Given the description of an element on the screen output the (x, y) to click on. 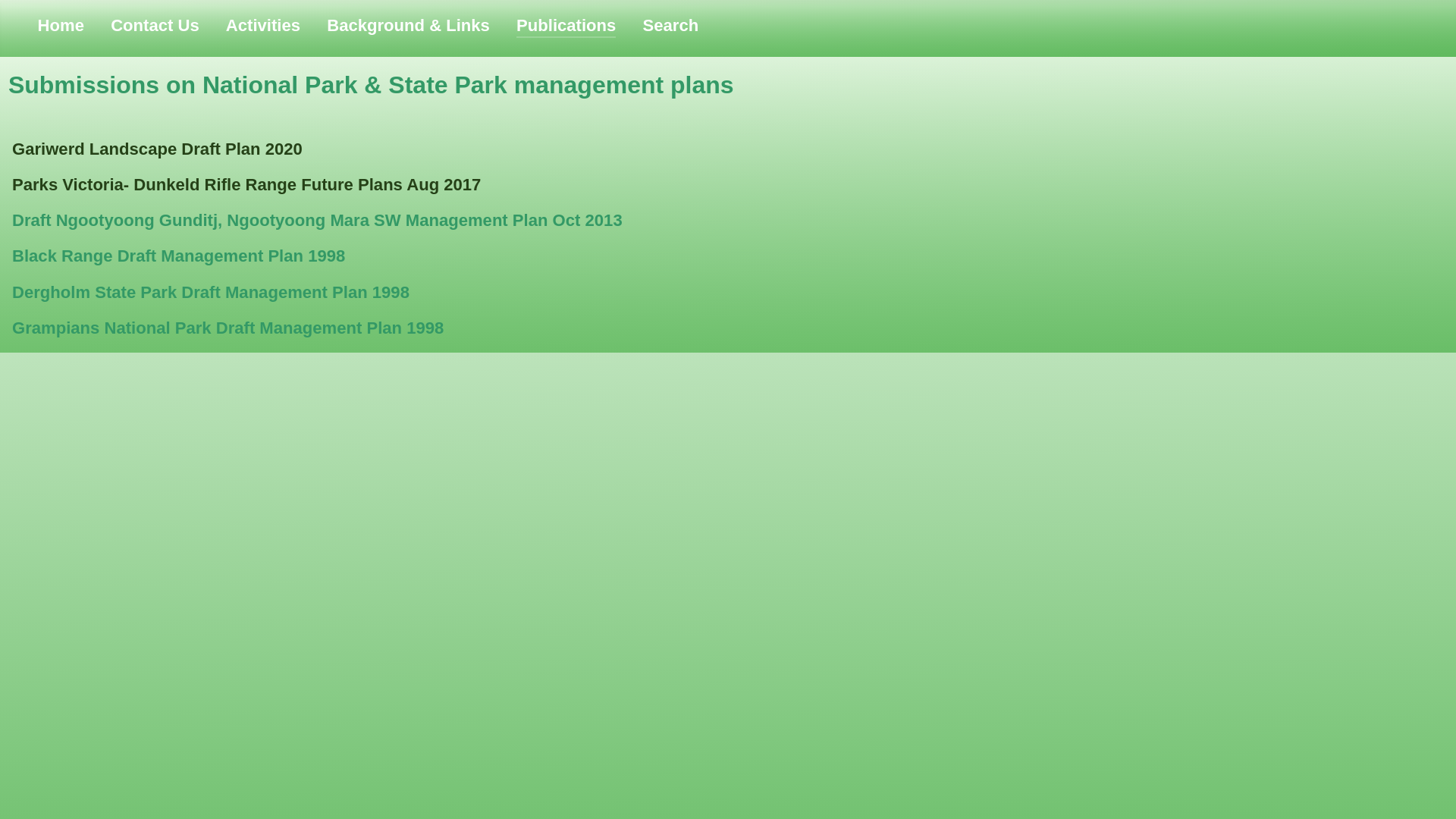
Search Element type: text (671, 24)
Home Element type: text (60, 24)
Grampians National Park Draft Management Plan 1998 Element type: text (227, 327)
Publications Element type: text (565, 24)
Gariwerd Landscape Draft Plan 2020 Element type: text (157, 148)
Contact Us Element type: text (154, 24)
Background & Links Element type: text (407, 24)
Black Range Draft Management Plan 1998 Element type: text (178, 255)
Dergholm State Park Draft Management Plan 1998 Element type: text (210, 291)
Activities Element type: text (262, 24)
Parks Victoria- Dunkeld Rifle Range Future Plans Aug 2017 Element type: text (246, 184)
